Given the description of an element on the screen output the (x, y) to click on. 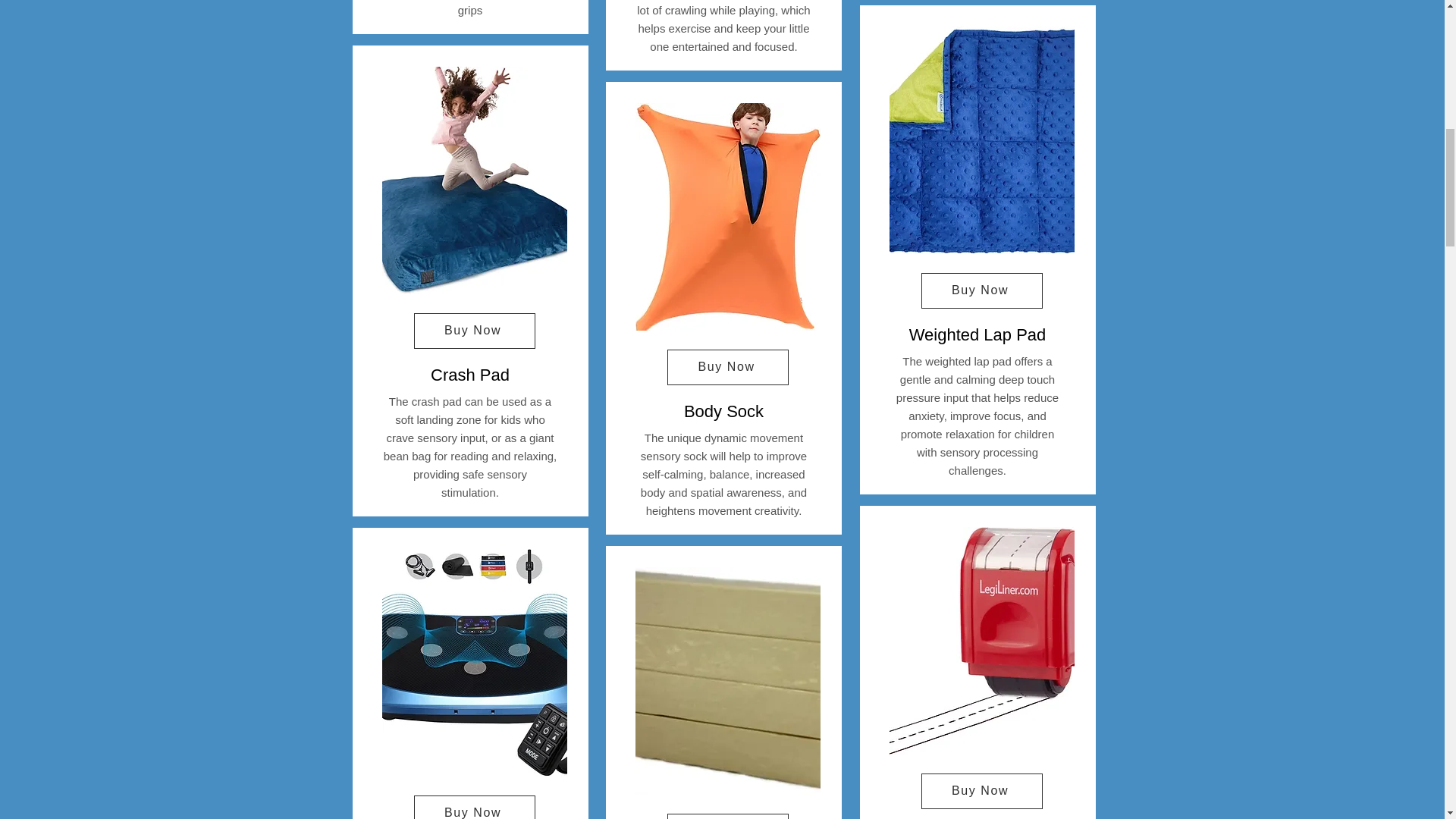
Buy Now (474, 330)
Buy Now (727, 816)
Buy Now (727, 366)
Buy Now (474, 807)
